Given the description of an element on the screen output the (x, y) to click on. 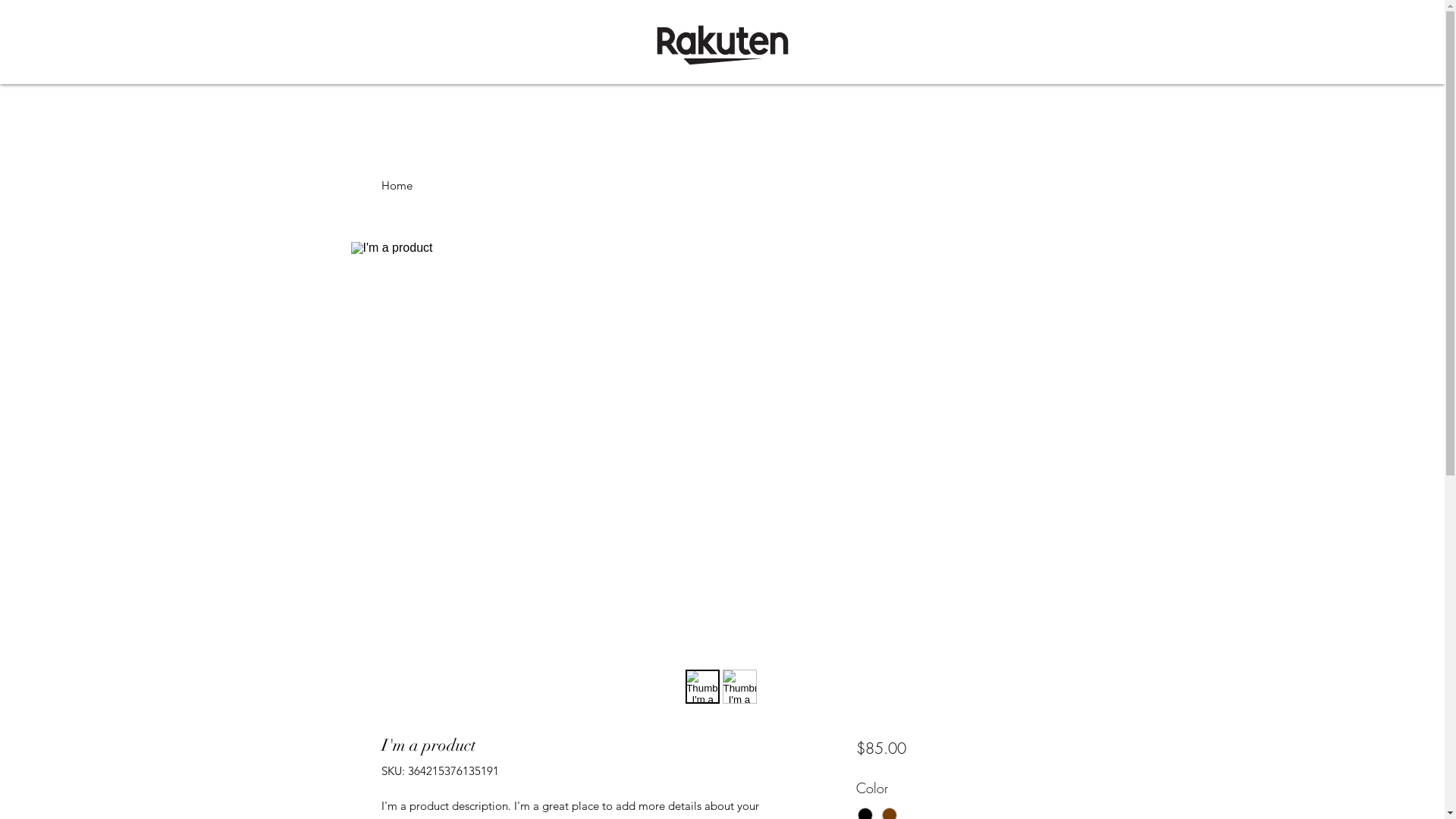
Home Element type: text (395, 185)
